Given the description of an element on the screen output the (x, y) to click on. 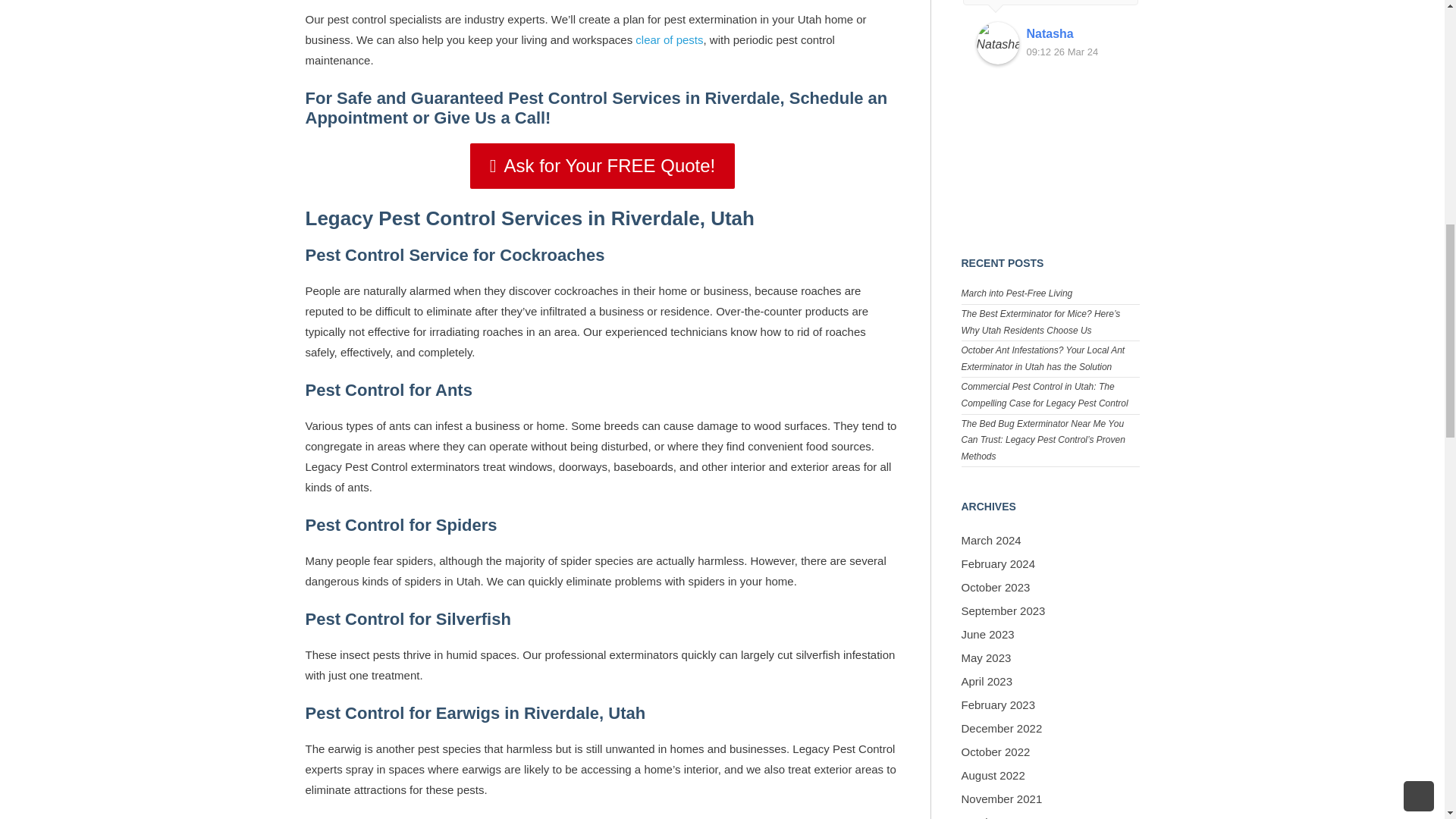
Natasha (997, 43)
clear of pests (668, 39)
Ask for Your FREE Quote! (602, 165)
Natasha (1075, 34)
